Given the description of an element on the screen output the (x, y) to click on. 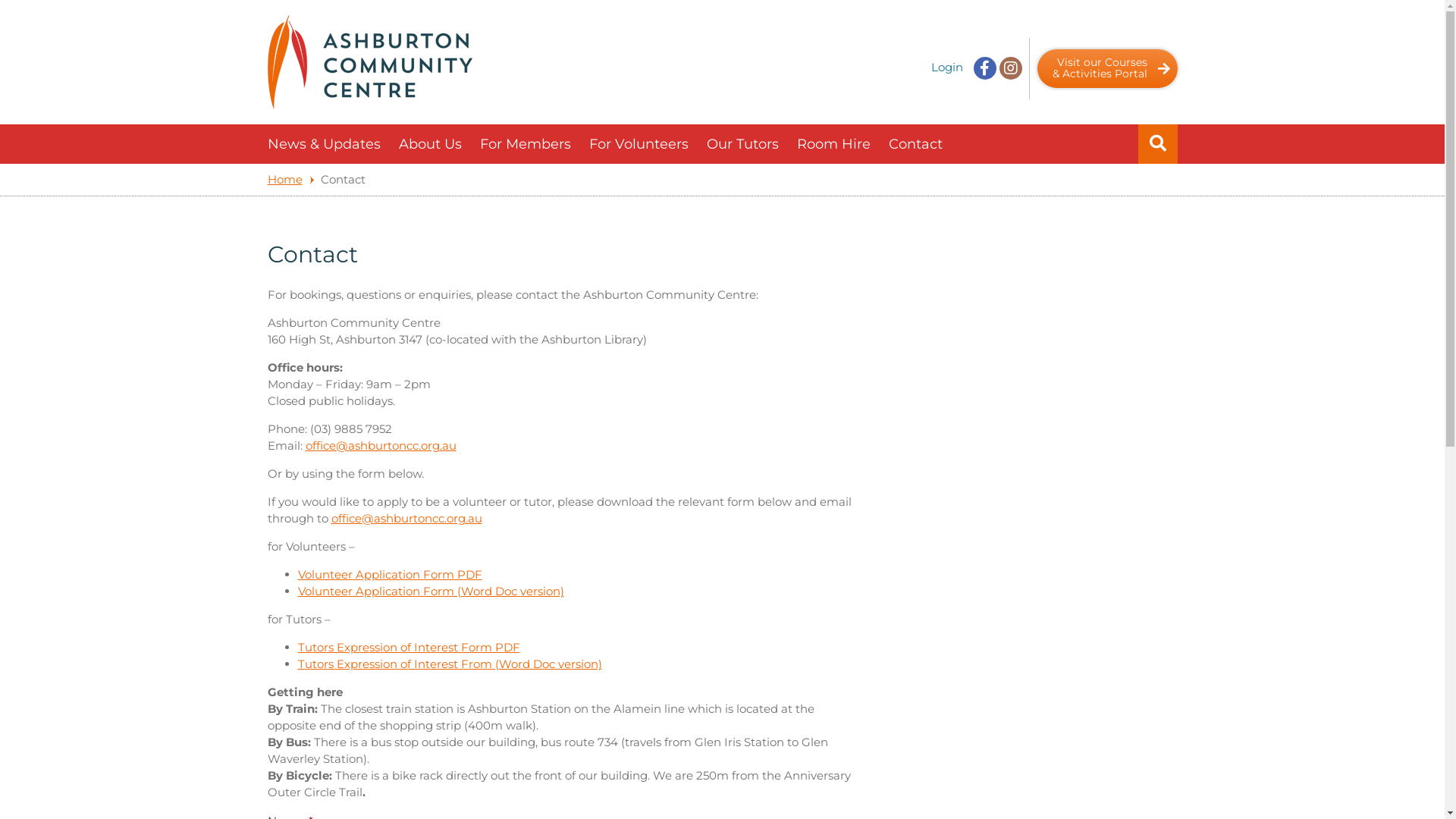
Our Tutors Element type: text (742, 143)
Volunteer Application Form PDF Element type: text (389, 574)
Visit our Courses
& Activities Portal Element type: text (1107, 68)
Room Hire Element type: text (832, 143)
office@ashburtoncc.org.au Element type: text (405, 518)
About Us Element type: text (429, 143)
News & Updates Element type: text (322, 143)
For Volunteers Element type: text (637, 143)
Contact Element type: text (915, 143)
Home Element type: text (289, 179)
For Members Element type: text (524, 143)
Tutors Expression of Interest From (Word Doc version) Element type: text (449, 663)
Volunteer Application Form (Word Doc version) Element type: text (430, 590)
Login Element type: text (947, 67)
Ashburton Community Centre Element type: text (368, 62)
office@ashburtoncc.org.au Element type: text (379, 445)
Tutors Expression of Interest Form PDF Element type: text (408, 647)
